Given the description of an element on the screen output the (x, y) to click on. 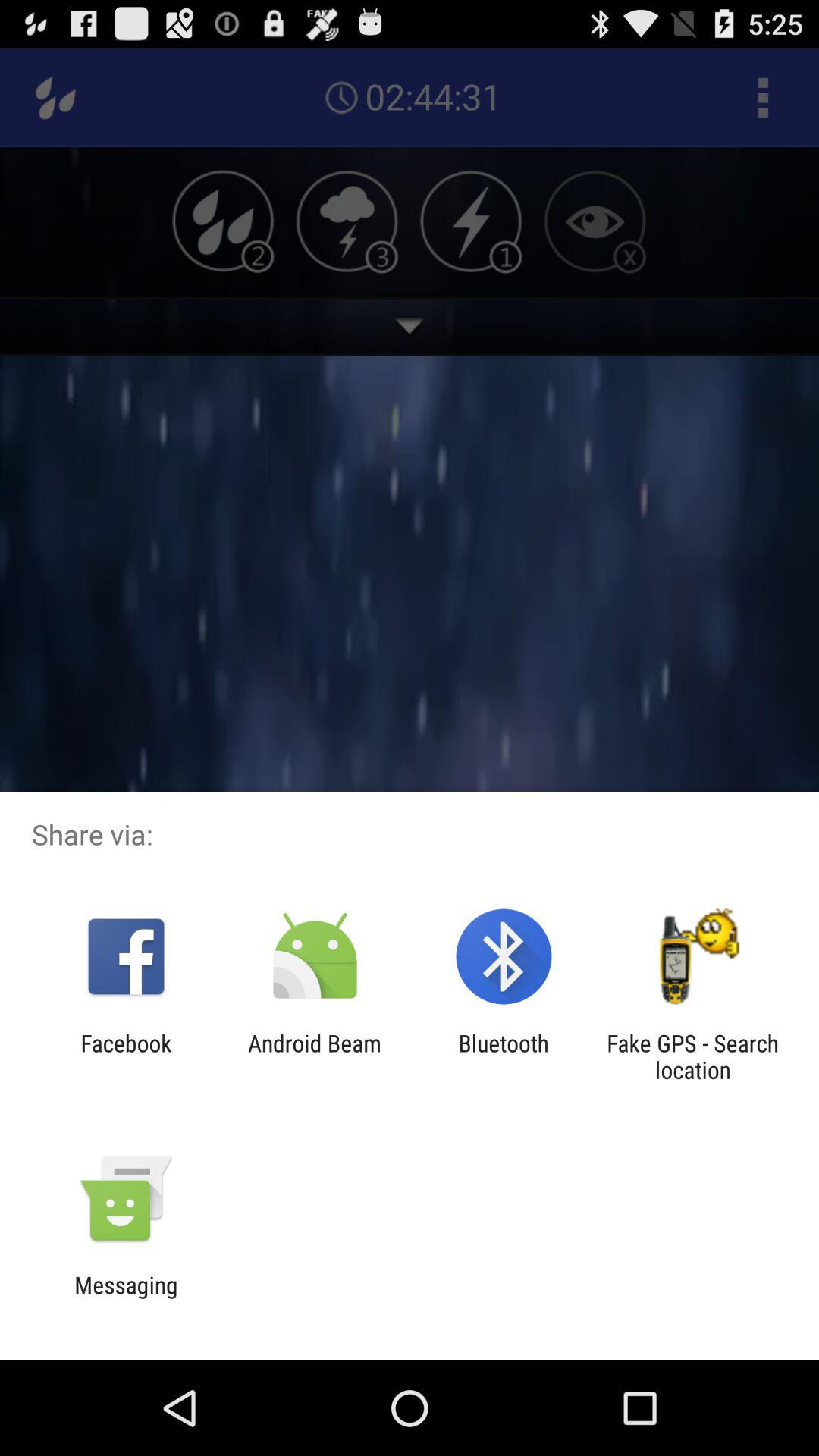
launch item to the left of the bluetooth app (314, 1056)
